Given the description of an element on the screen output the (x, y) to click on. 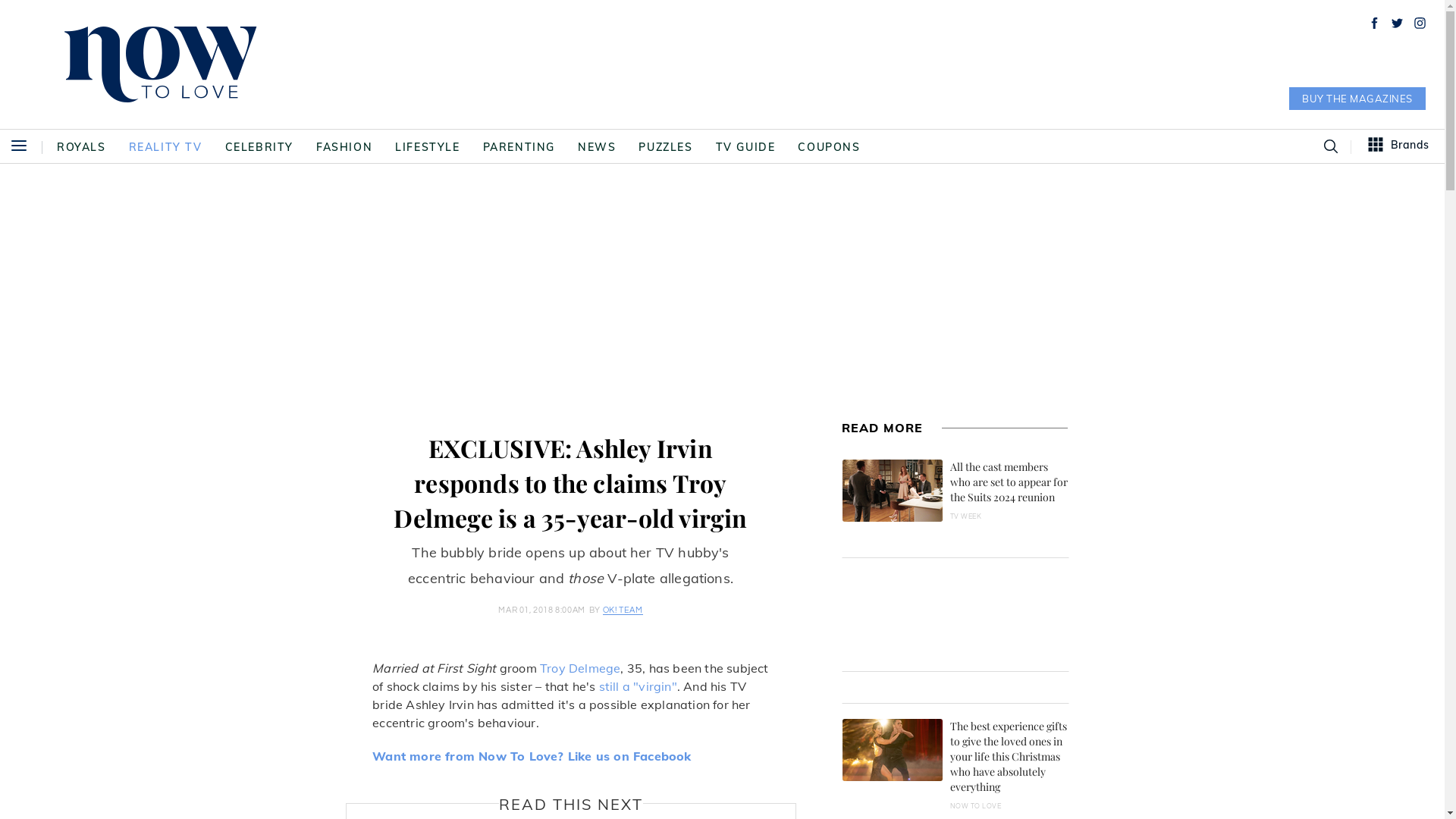
TV GUIDE Element type: text (745, 146)
Brands Element type: text (1399, 146)
COUPONS Element type: text (828, 146)
still a "virgin" Element type: text (638, 685)
OK! TEAM Element type: text (622, 610)
CELEBRITY Element type: text (258, 146)
PARENTING Element type: text (518, 146)
BUY THE MAGAZINES Element type: text (1357, 98)
NEWS Element type: text (596, 146)
LIFESTYLE Element type: text (426, 146)
FASHION Element type: text (343, 146)
Troy Delmege Element type: text (579, 667)
PUZZLES Element type: text (665, 146)
REALITY TV Element type: text (165, 146)
ROYALS Element type: text (81, 146)
Want more from Now To Love? Like us on Facebook Element type: text (531, 755)
